Given the description of an element on the screen output the (x, y) to click on. 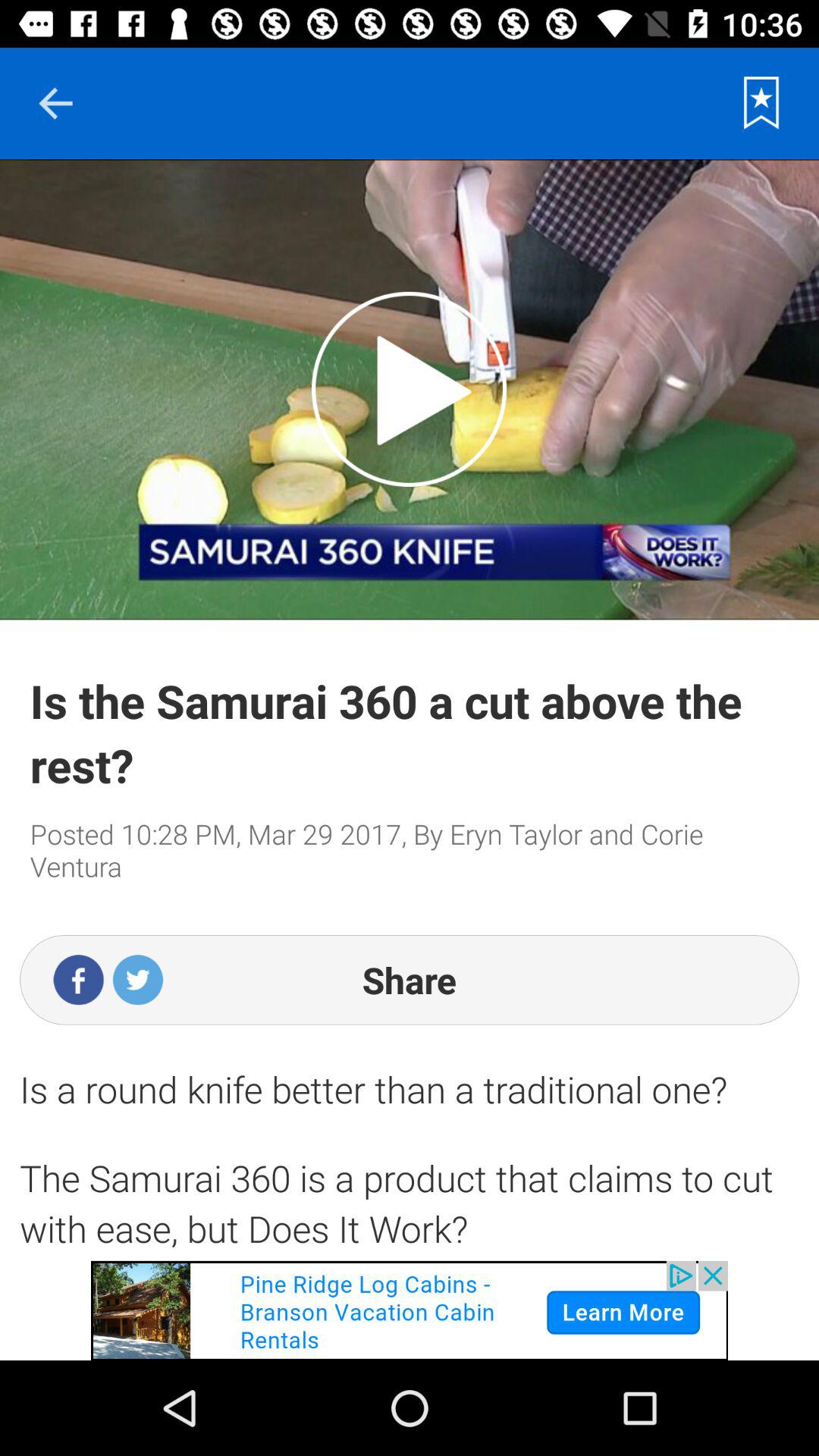
play video (408, 388)
